Given the description of an element on the screen output the (x, y) to click on. 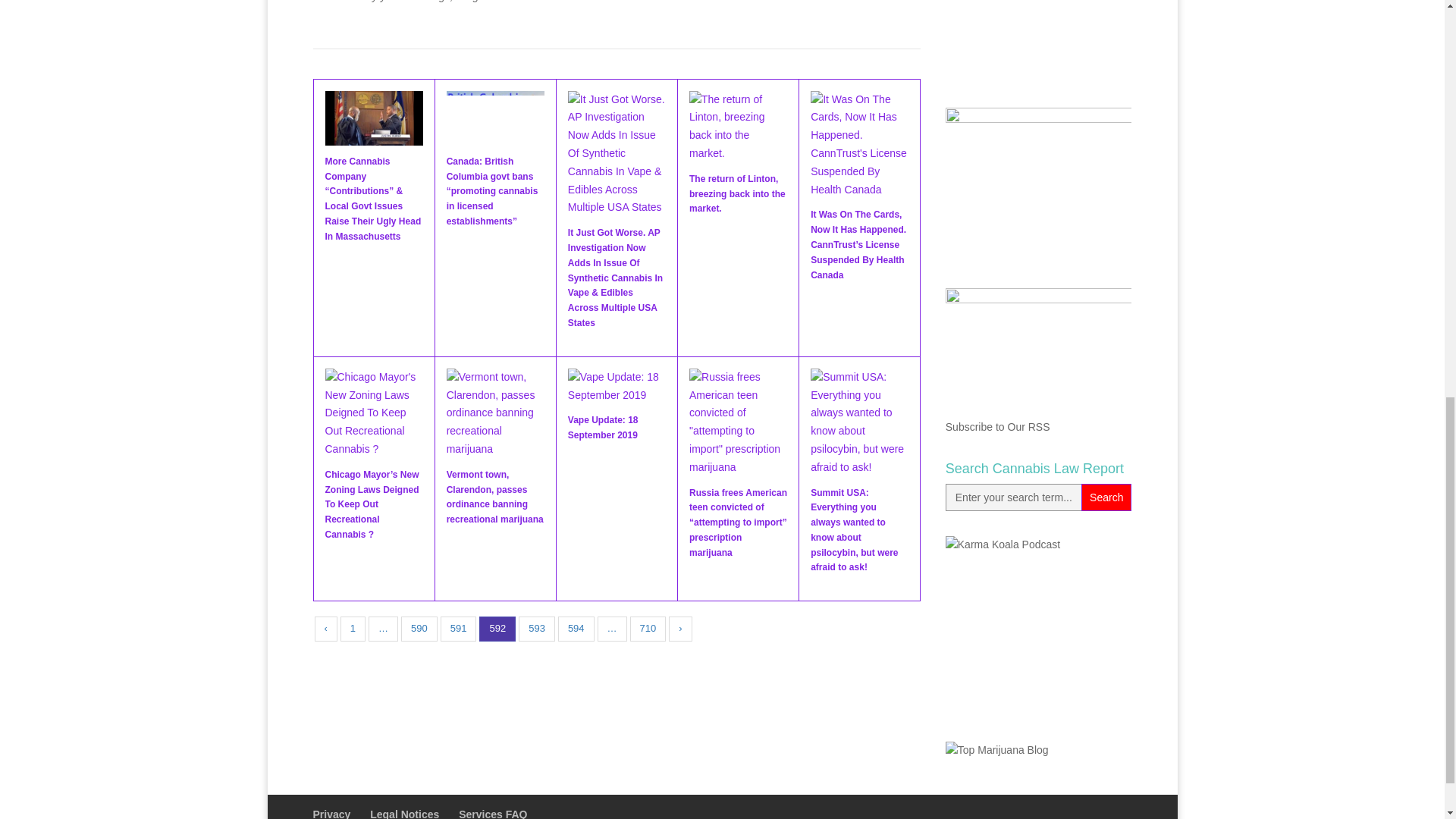
Search (1106, 497)
Search (1106, 497)
